Given the description of an element on the screen output the (x, y) to click on. 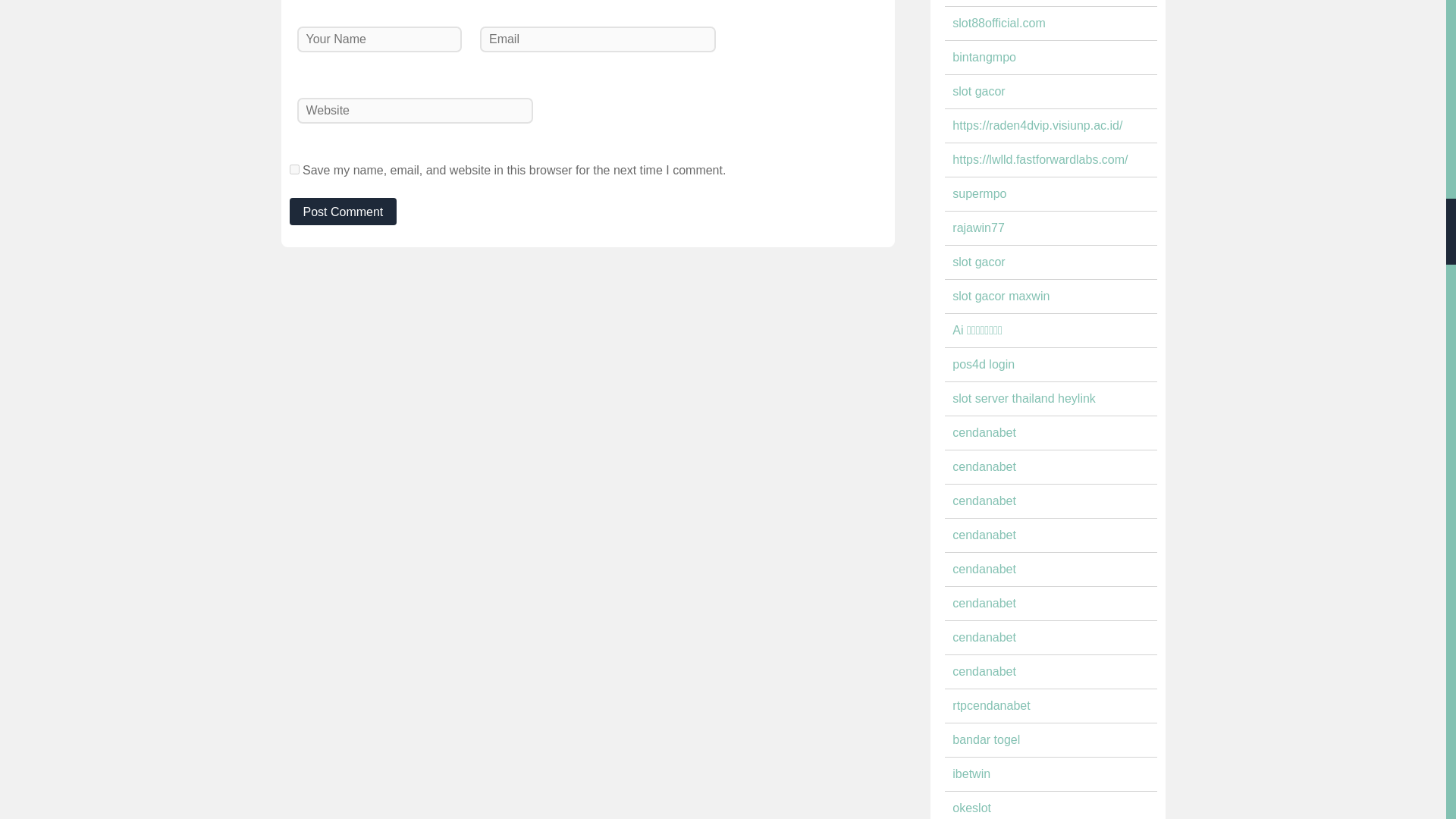
Post Comment (343, 211)
Post Comment (343, 211)
yes (294, 169)
